Given the description of an element on the screen output the (x, y) to click on. 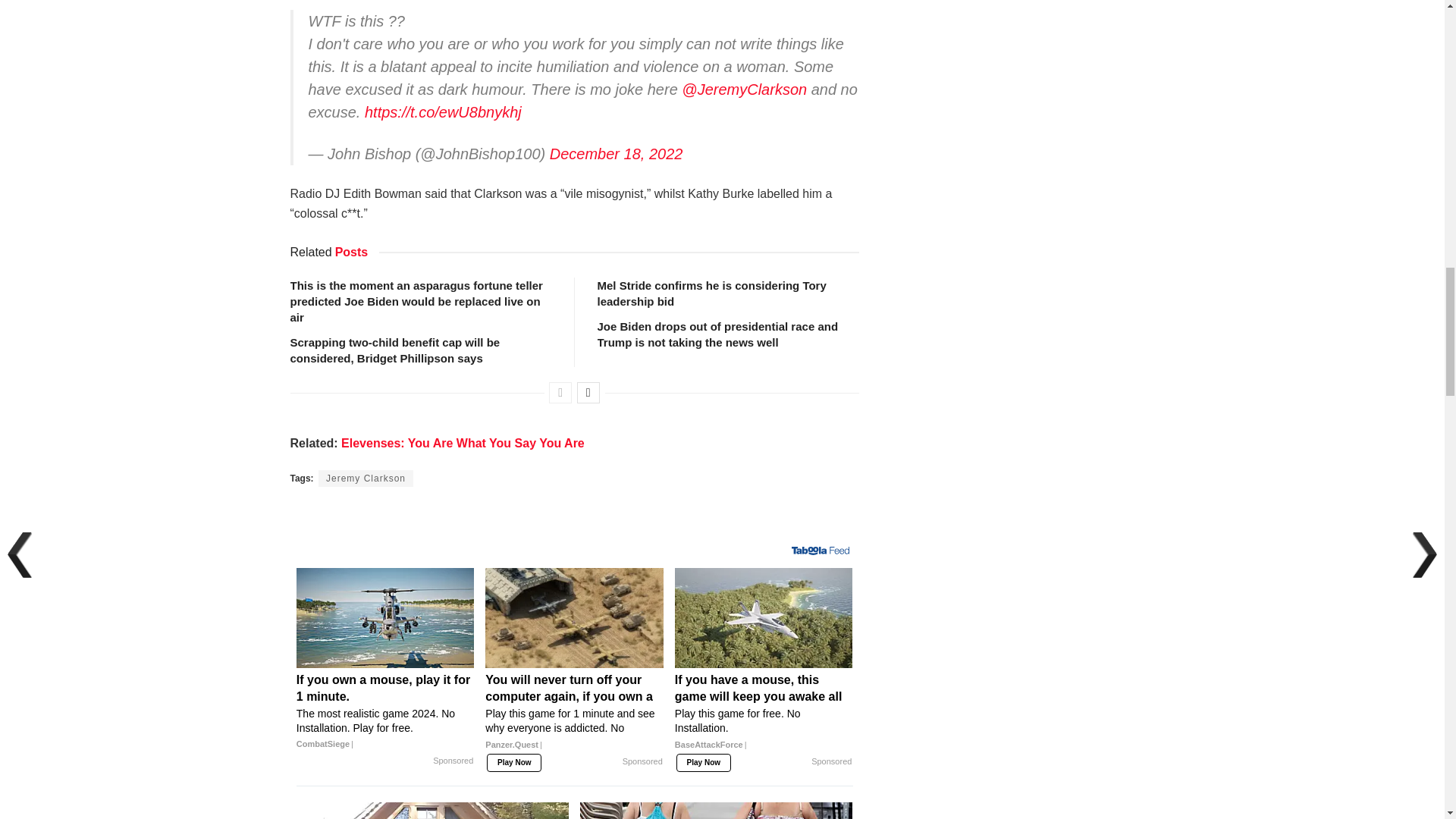
Next (587, 392)
If you own a mouse, play it for 1 minute. (385, 711)
Previous (560, 392)
